Given the description of an element on the screen output the (x, y) to click on. 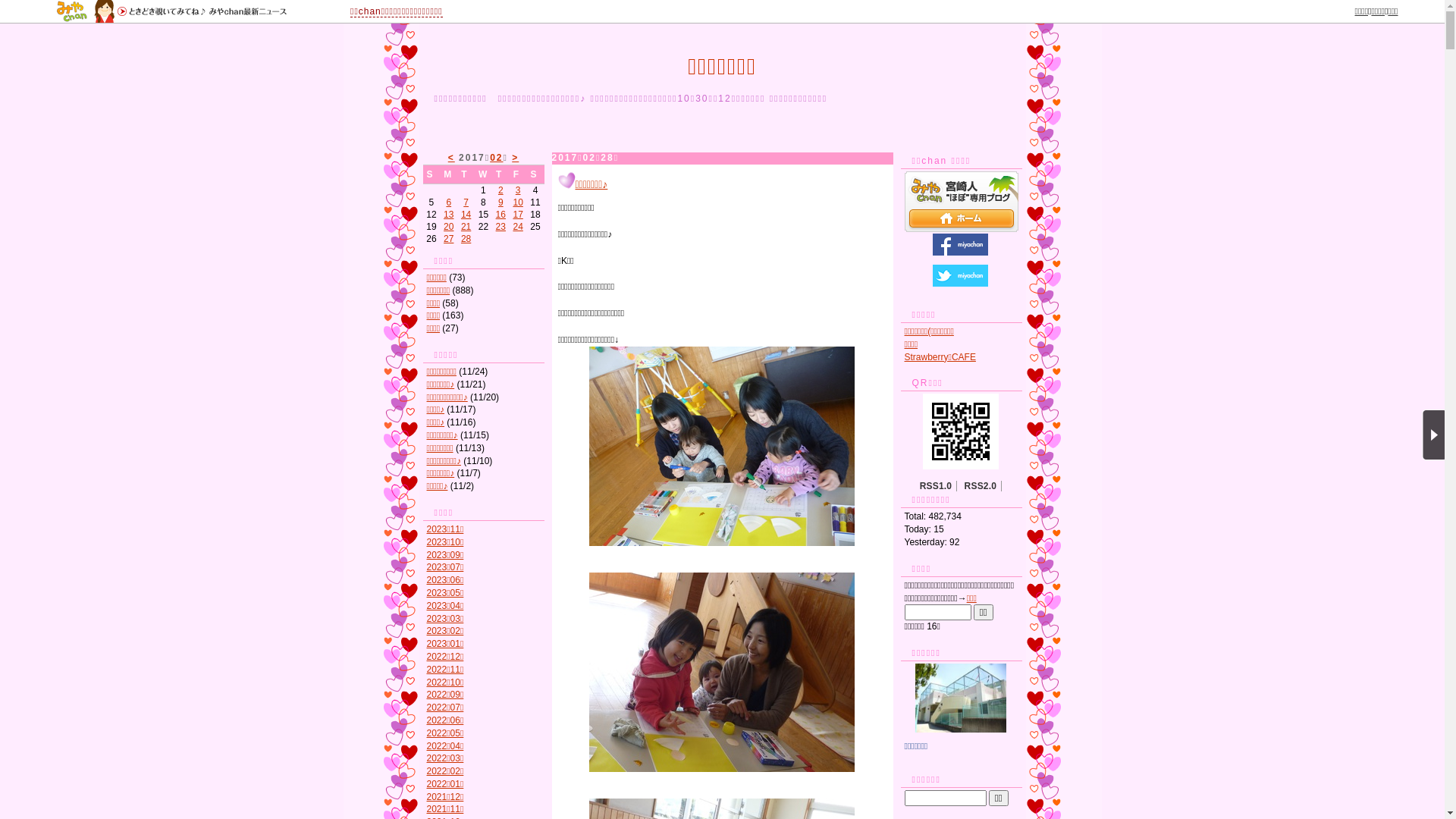
14 Element type: text (465, 214)
RSS1.0 Element type: text (935, 485)
9 Element type: text (500, 202)
13 Element type: text (448, 214)
RSS2.0 Element type: text (980, 485)
24 Element type: text (517, 226)
23 Element type: text (500, 226)
7 Element type: text (465, 202)
02 Element type: text (495, 157)
20 Element type: text (448, 226)
3 Element type: text (517, 190)
21 Element type: text (465, 226)
2 Element type: text (500, 190)
> Element type: text (514, 157)
6 Element type: text (448, 202)
16 Element type: text (500, 214)
< Element type: text (451, 157)
28 Element type: text (465, 238)
17 Element type: text (517, 214)
10 Element type: text (517, 202)
27 Element type: text (448, 238)
